Given the description of an element on the screen output the (x, y) to click on. 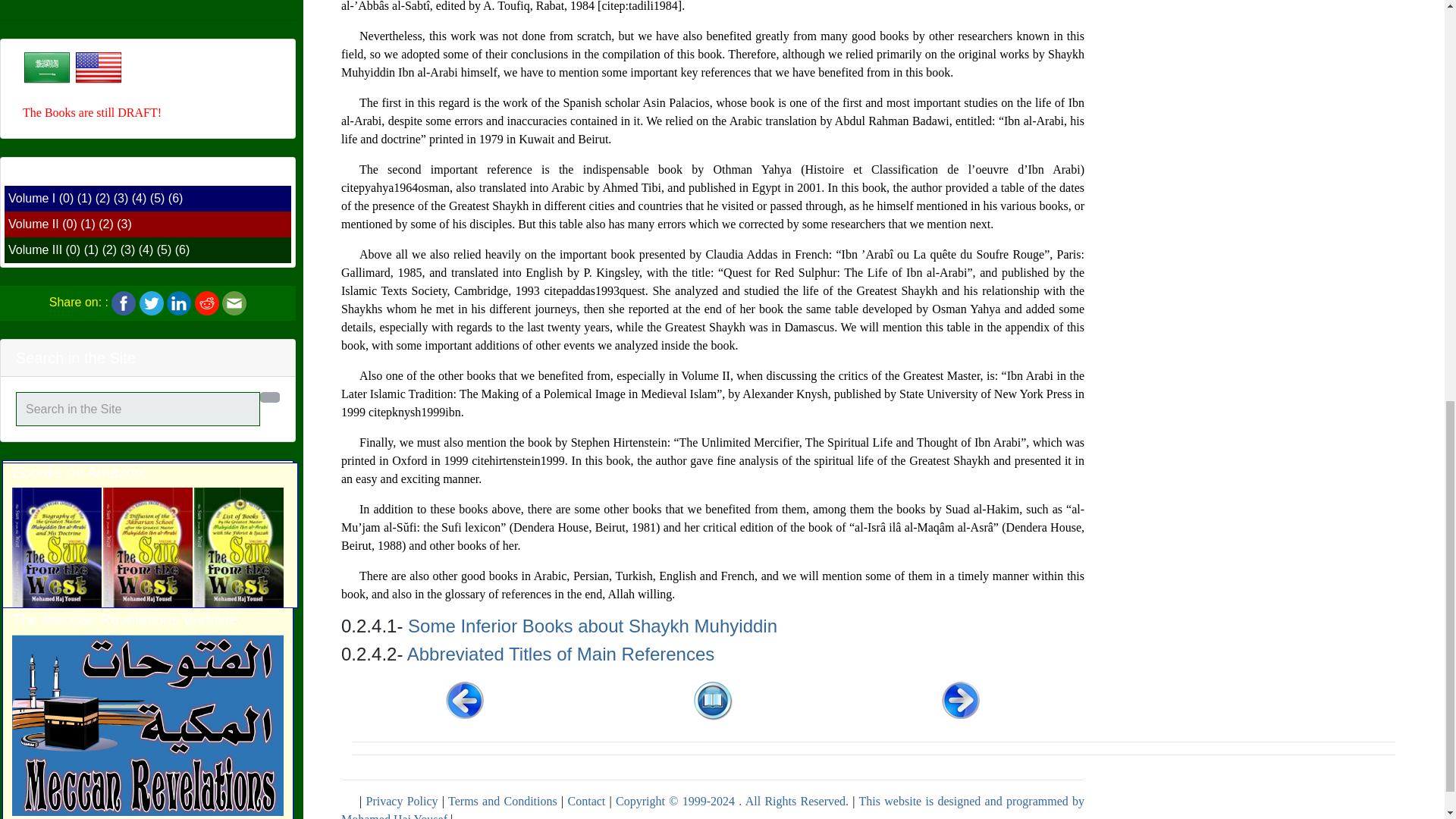
go back (712, 698)
previous section (464, 698)
The Single Monad Model of the Cosmos (147, 410)
next section (960, 698)
About the Author (147, 788)
The Sun fromthe West (147, 134)
